Given the description of an element on the screen output the (x, y) to click on. 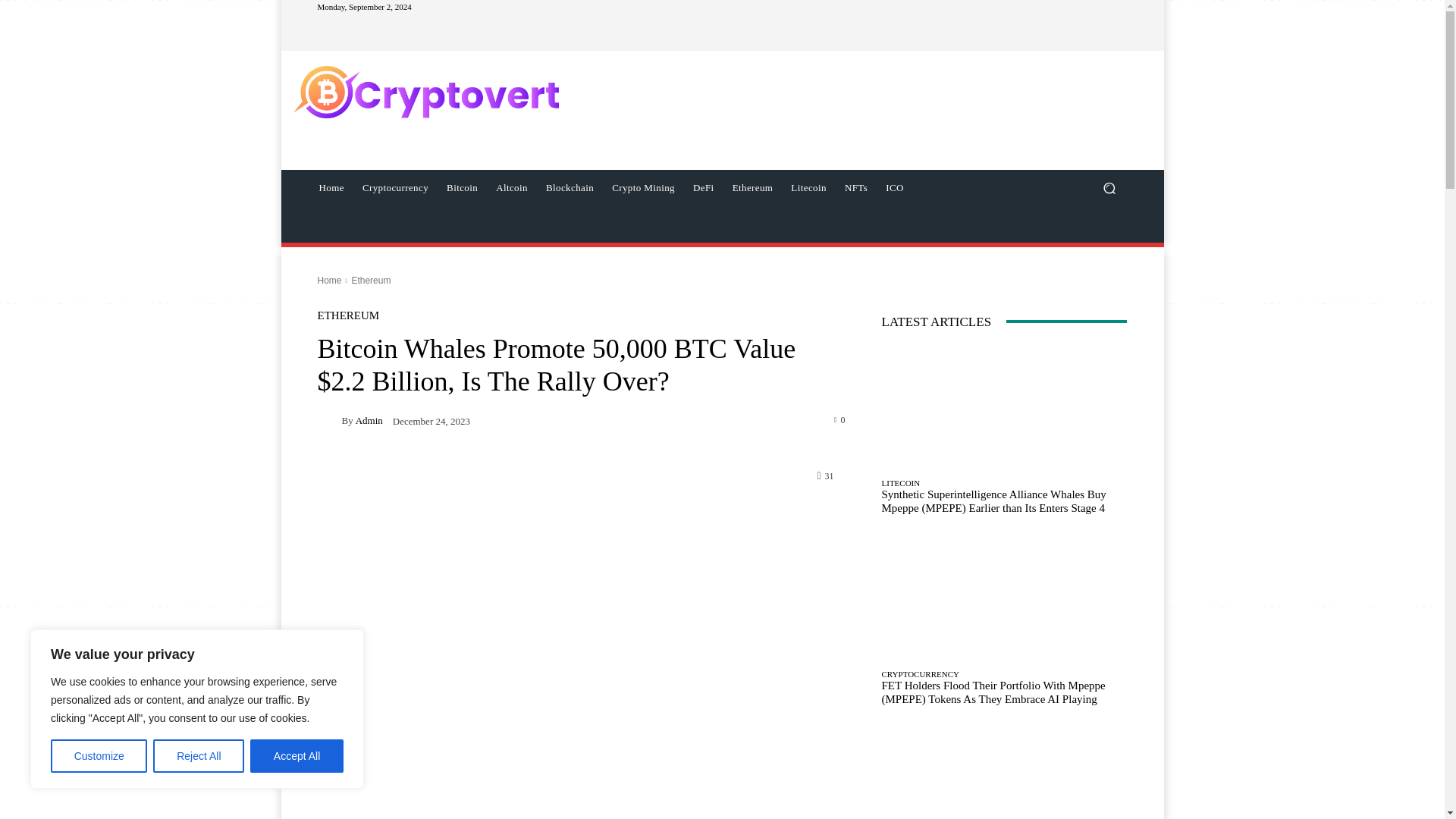
Crypto Mining (643, 187)
admin (328, 419)
Customize (98, 756)
Reject All (198, 756)
Cryptocurrency (395, 187)
Bitcoin (462, 187)
ICO (894, 187)
Litecoin (808, 187)
Altcoin (511, 187)
Home (330, 187)
